Given the description of an element on the screen output the (x, y) to click on. 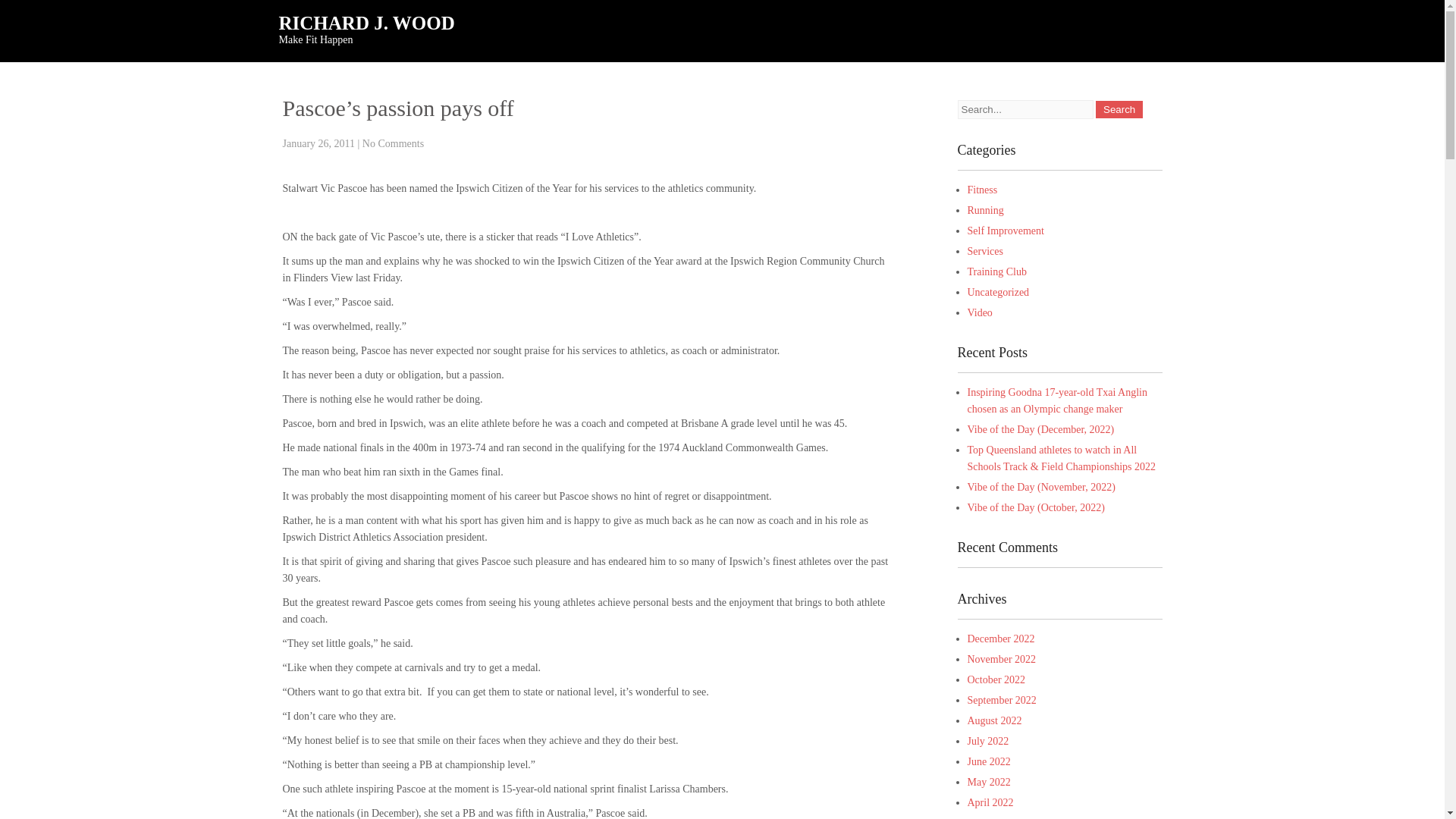
RICHARD J. WOOD (389, 23)
December 2022 (1001, 638)
Search (1119, 108)
Search (1119, 108)
October 2022 (997, 679)
No Comments (392, 143)
July 2022 (988, 740)
Services (985, 251)
September 2022 (1002, 699)
Uncategorized (998, 292)
